Given the description of an element on the screen output the (x, y) to click on. 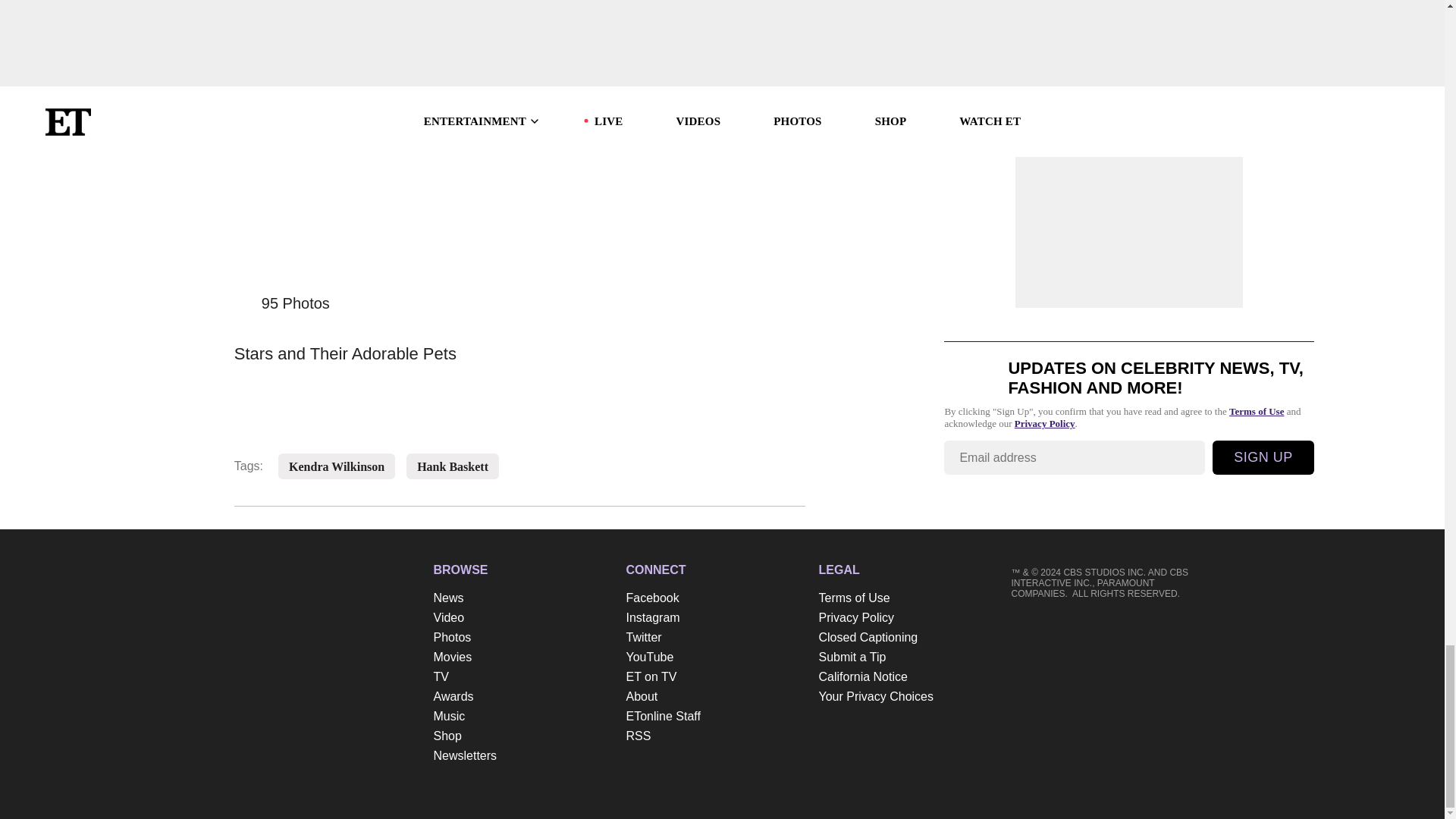
Kendra Wilkinson (336, 467)
Hank Baskett (451, 467)
Stars and Their Adorable Pets (519, 348)
